Given the description of an element on the screen output the (x, y) to click on. 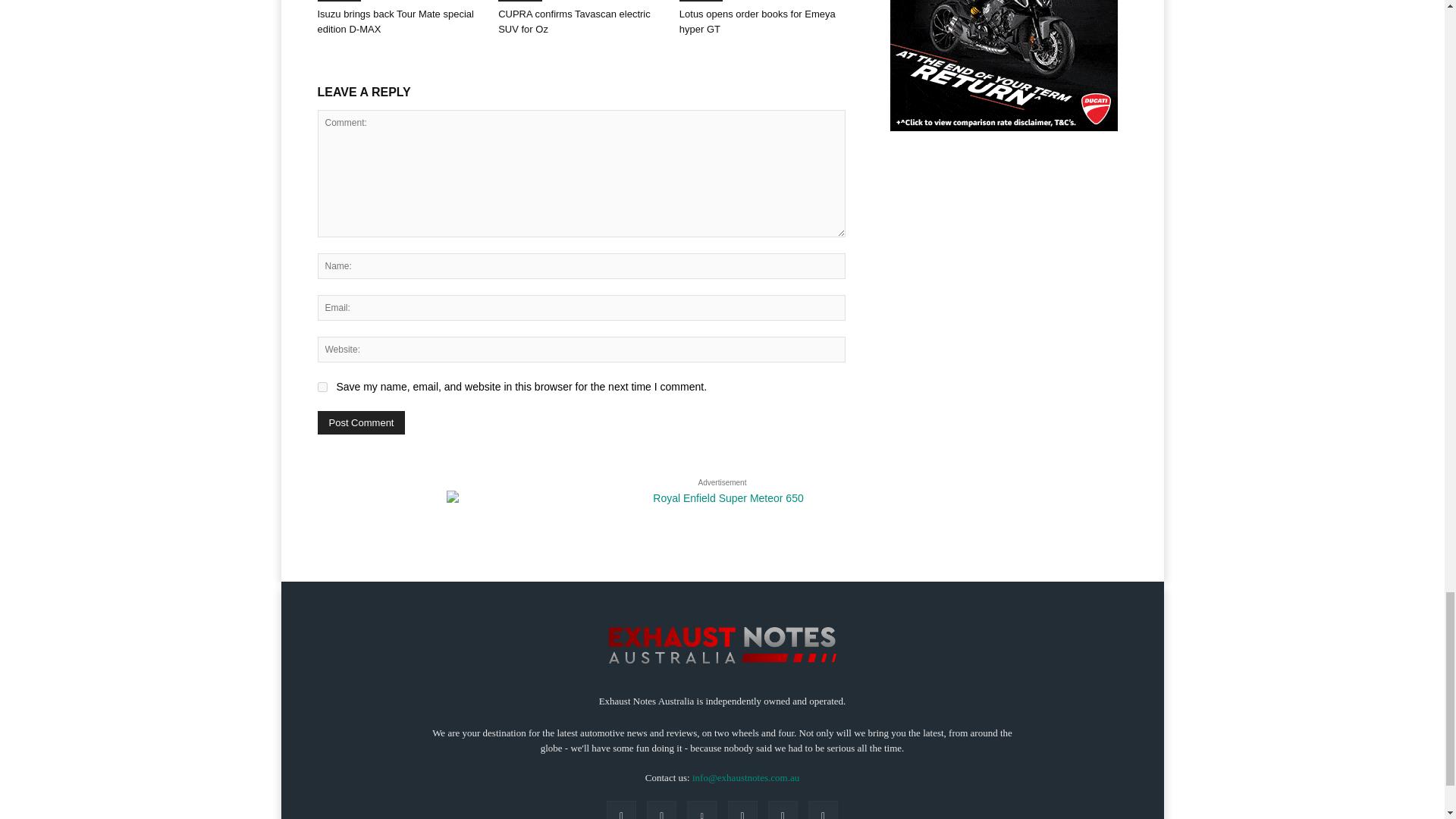
Post Comment (360, 422)
yes (321, 387)
